Given the description of an element on the screen output the (x, y) to click on. 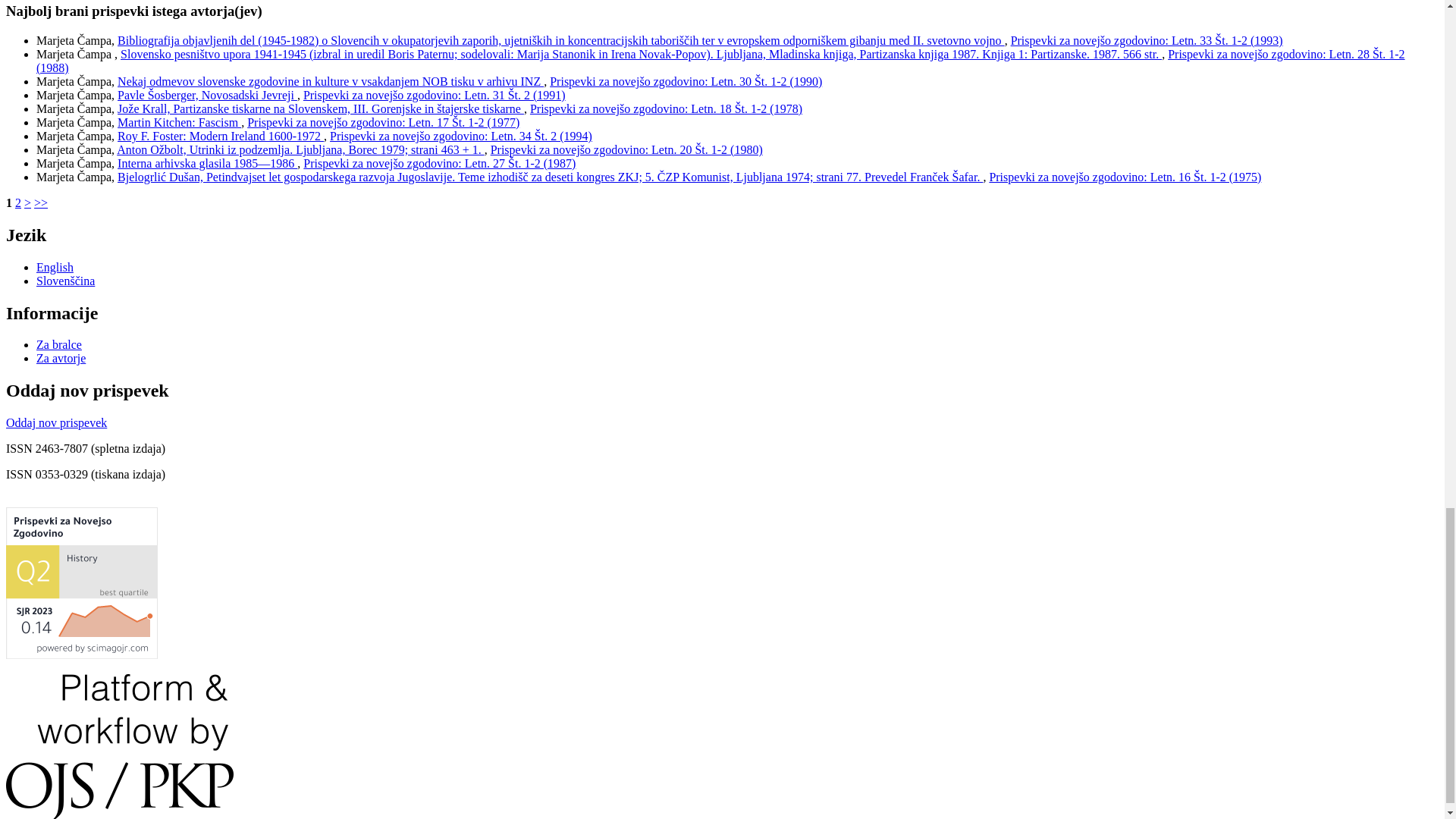
Martin Kitchen: Fascism (179, 122)
Roy F. Foster: Modern Ireland 1600-1972 (220, 135)
